Given the description of an element on the screen output the (x, y) to click on. 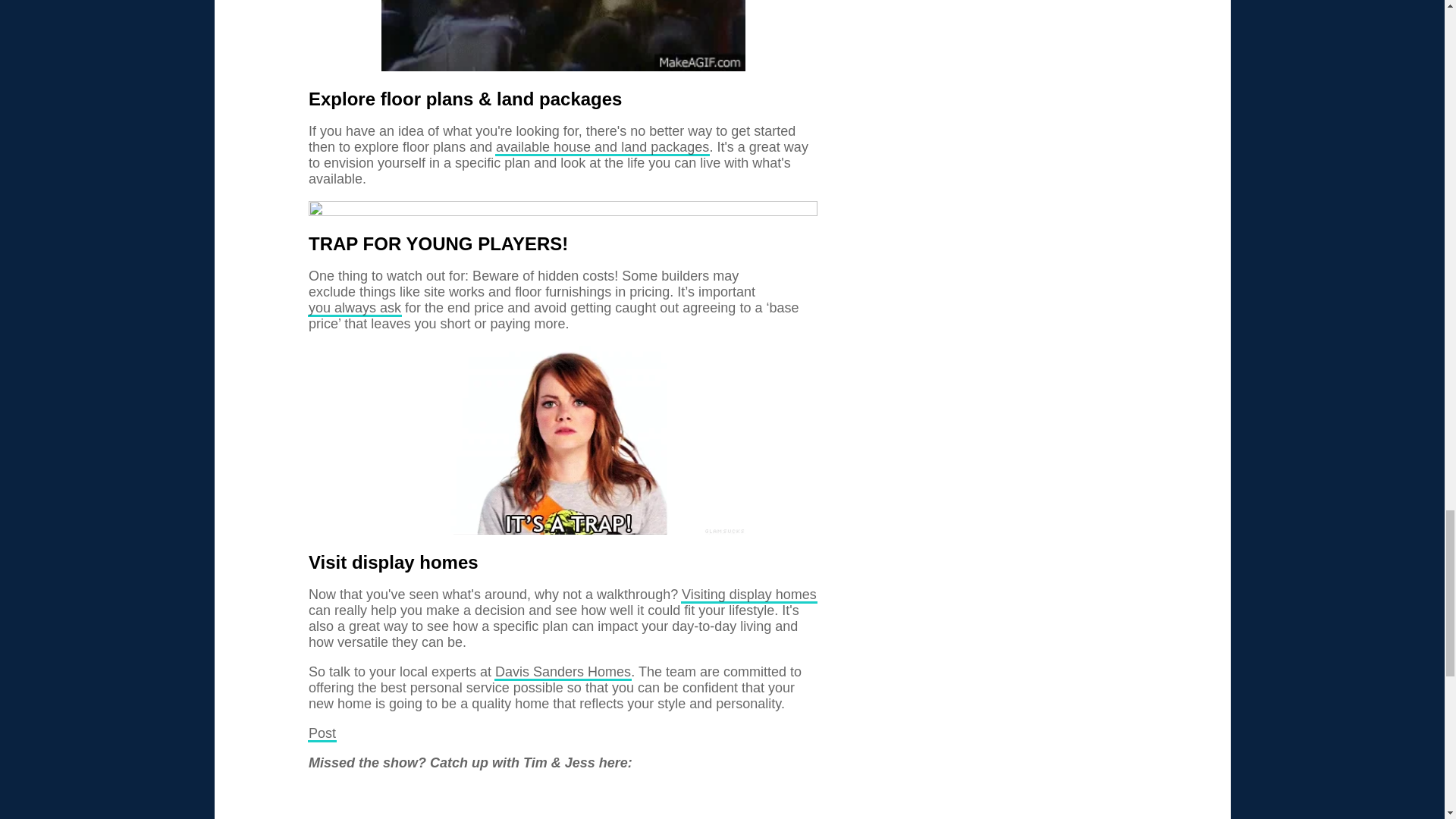
available house and land packages (602, 147)
you always ask (354, 308)
Davis Sanders Homes (562, 672)
Visiting display homes (748, 594)
Post (322, 733)
